Given the description of an element on the screen output the (x, y) to click on. 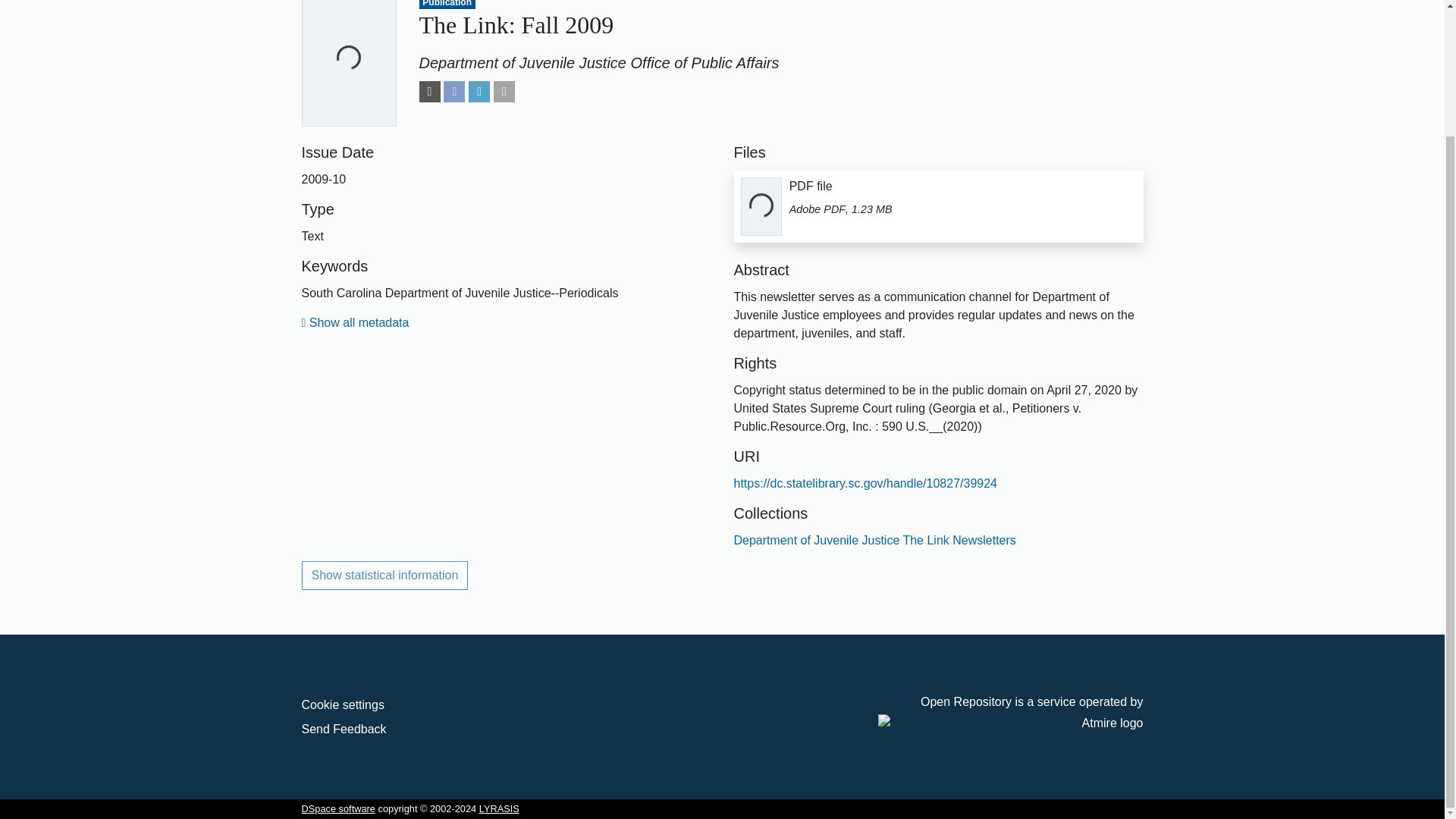
Department of Juvenile Justice The Link Newsletters (874, 540)
Cookie settings (342, 704)
Open Repository is a service operated by (1009, 714)
LYRASIS (499, 808)
Show all metadata (355, 322)
DSpace software (338, 808)
Show statistical information (384, 575)
Send Feedback (344, 728)
